Given the description of an element on the screen output the (x, y) to click on. 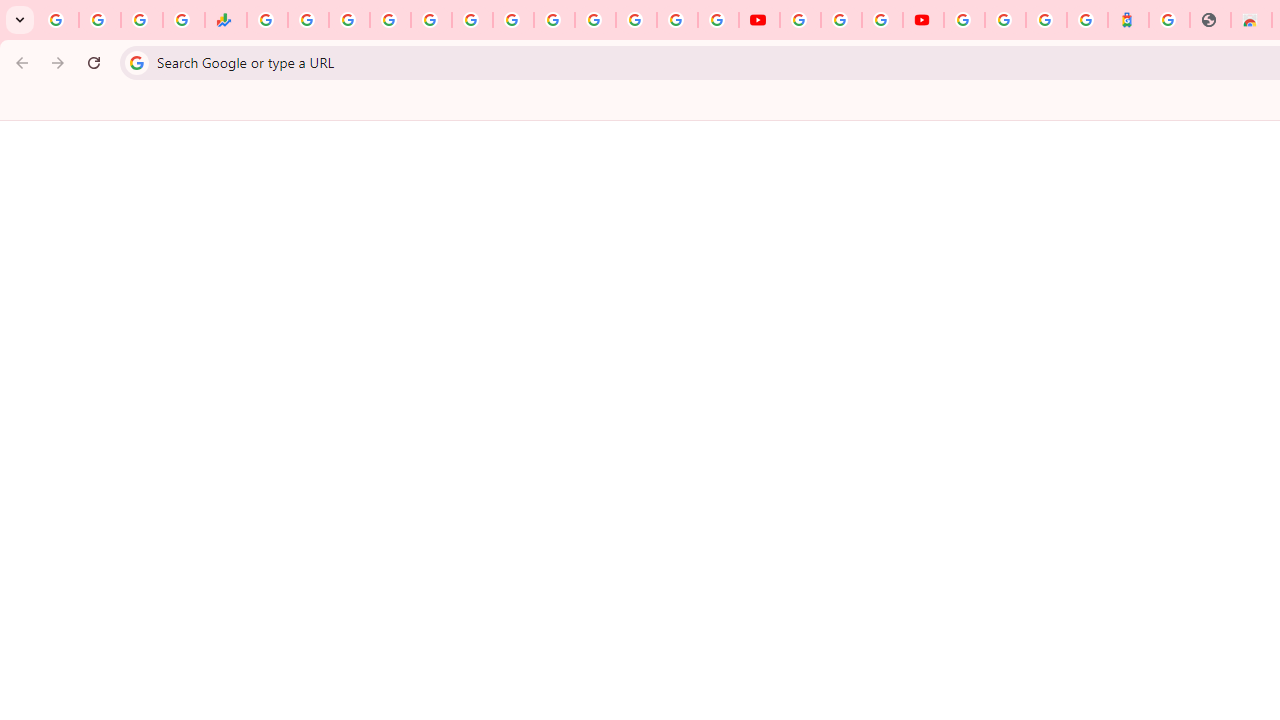
YouTube (553, 20)
Sign in - Google Accounts (964, 20)
YouTube (758, 20)
Create your Google Account (881, 20)
Sign in - Google Accounts (389, 20)
Privacy Checkup (717, 20)
